Given the description of an element on the screen output the (x, y) to click on. 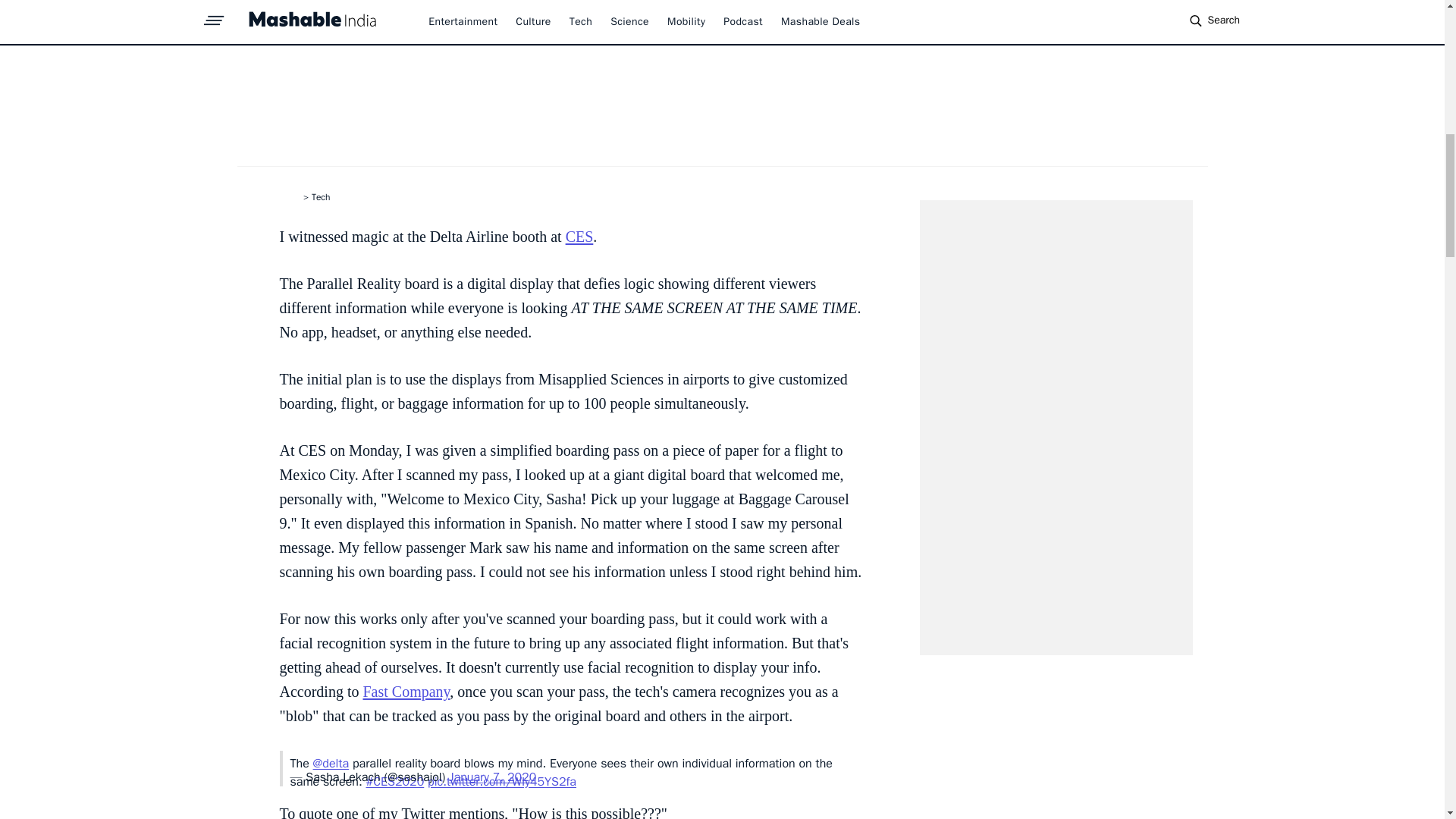
Fast Company (405, 691)
CES (580, 236)
January 7, 2020 (491, 776)
